Given the description of an element on the screen output the (x, y) to click on. 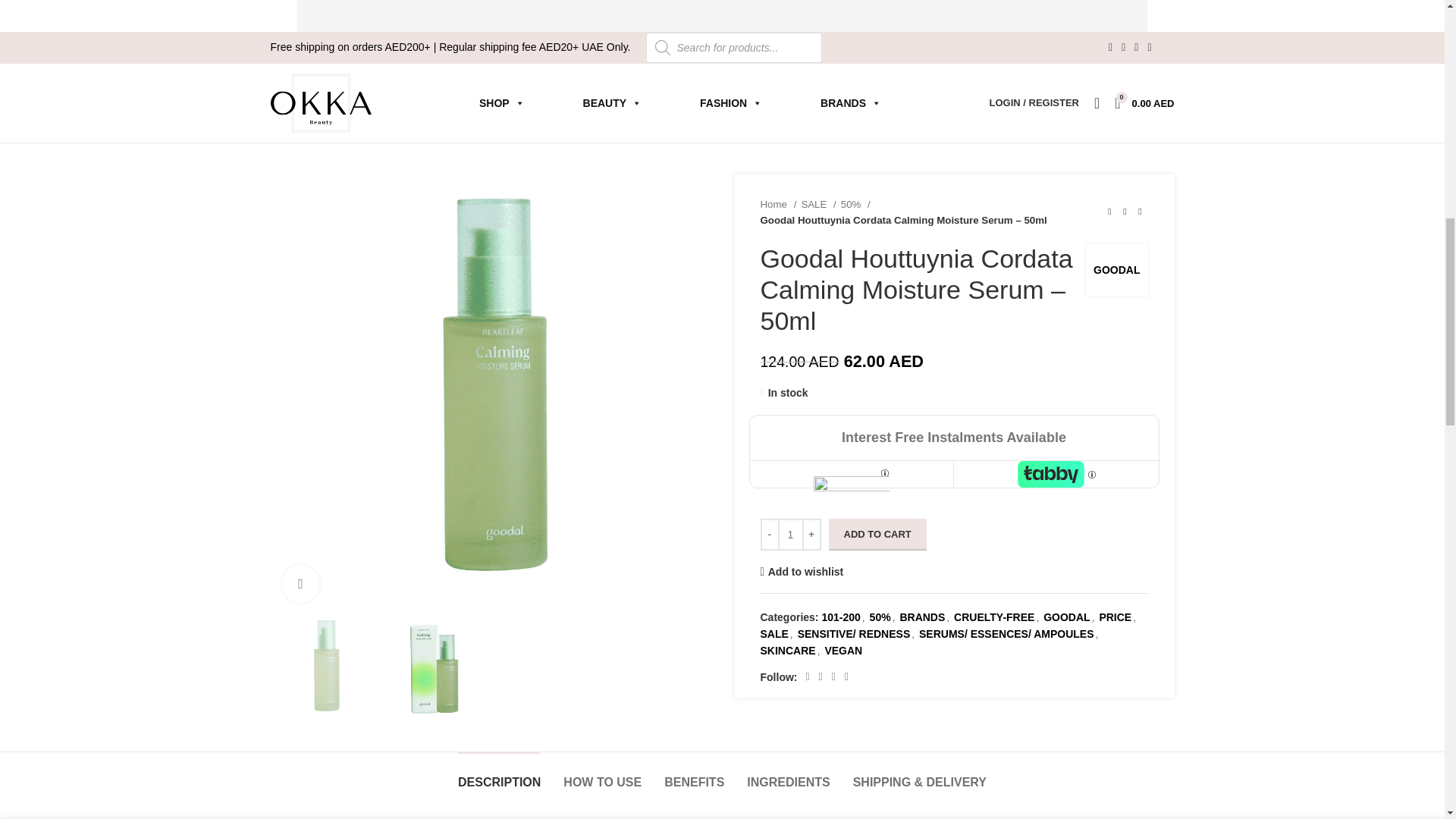
My account (1033, 102)
BEAUTY (612, 102)
SHOP (501, 102)
Shopping cart (1143, 102)
